Given the description of an element on the screen output the (x, y) to click on. 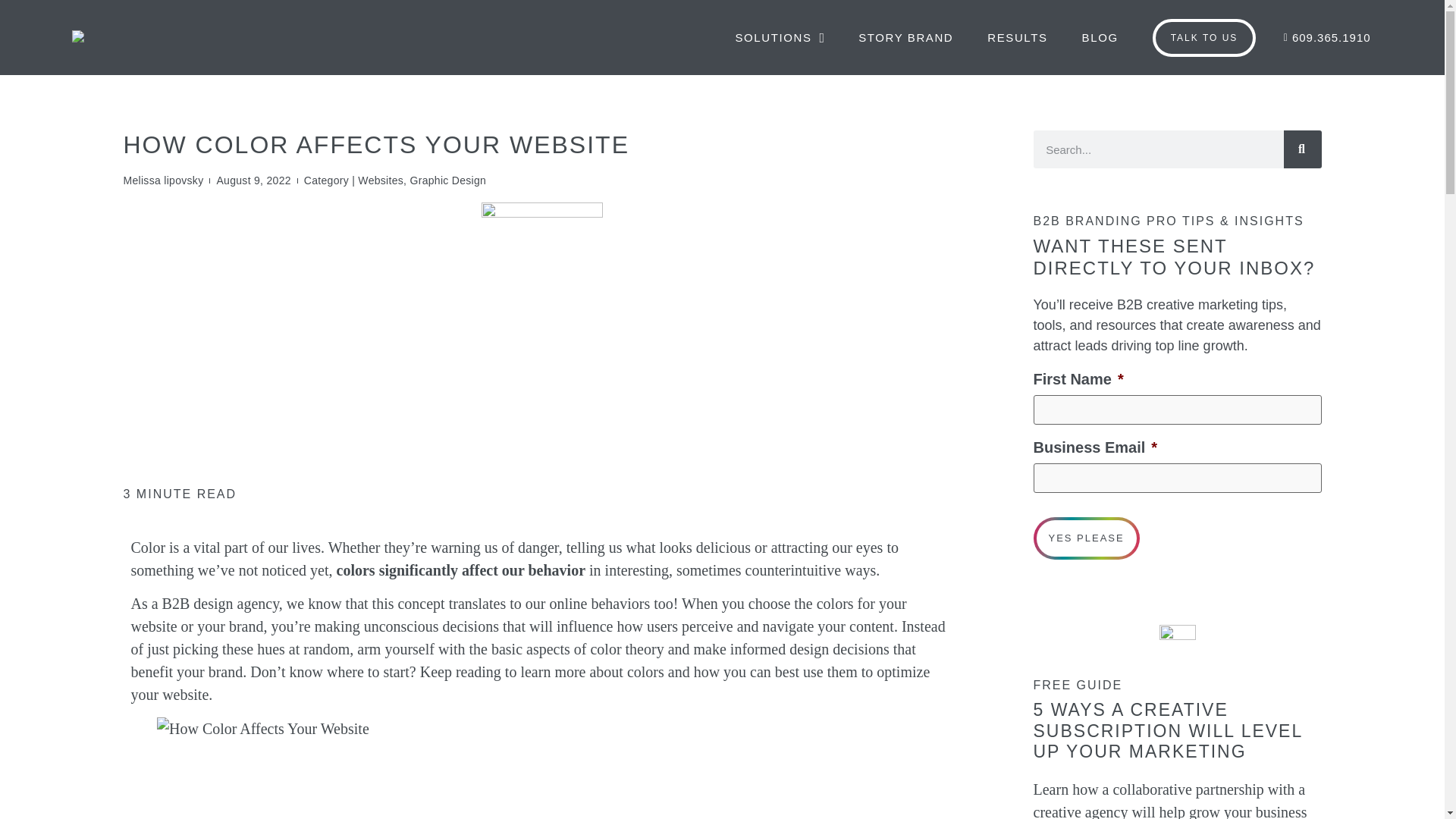
RESULTS (1016, 37)
Melissa lipovsky (162, 180)
Graphic Design (447, 180)
STORY BRAND (905, 37)
Yes Please (1085, 537)
TALK TO US (1204, 37)
Yes Please (1085, 537)
BLOG (1099, 37)
SOLUTIONS (778, 37)
609.365.1910 (1322, 37)
August 9, 2022 (252, 180)
5 WAYS A CREATIVE SUBSCRIPTION WILL LEVEL UP YOUR MARKETING (1166, 730)
